Given the description of an element on the screen output the (x, y) to click on. 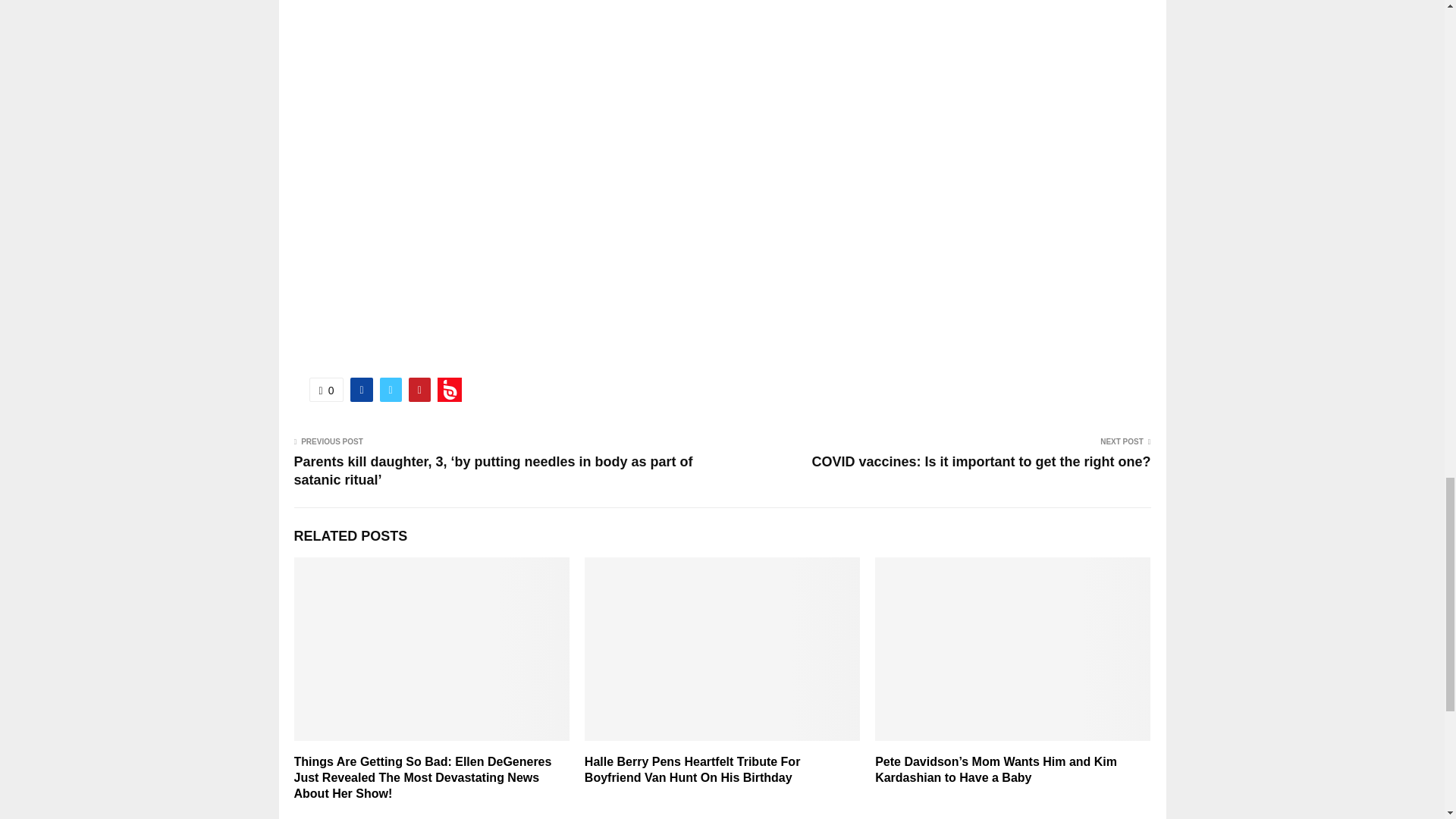
0 (325, 389)
Like (325, 389)
COVID vaccines: Is it important to get the right one? (980, 461)
